Given the description of an element on the screen output the (x, y) to click on. 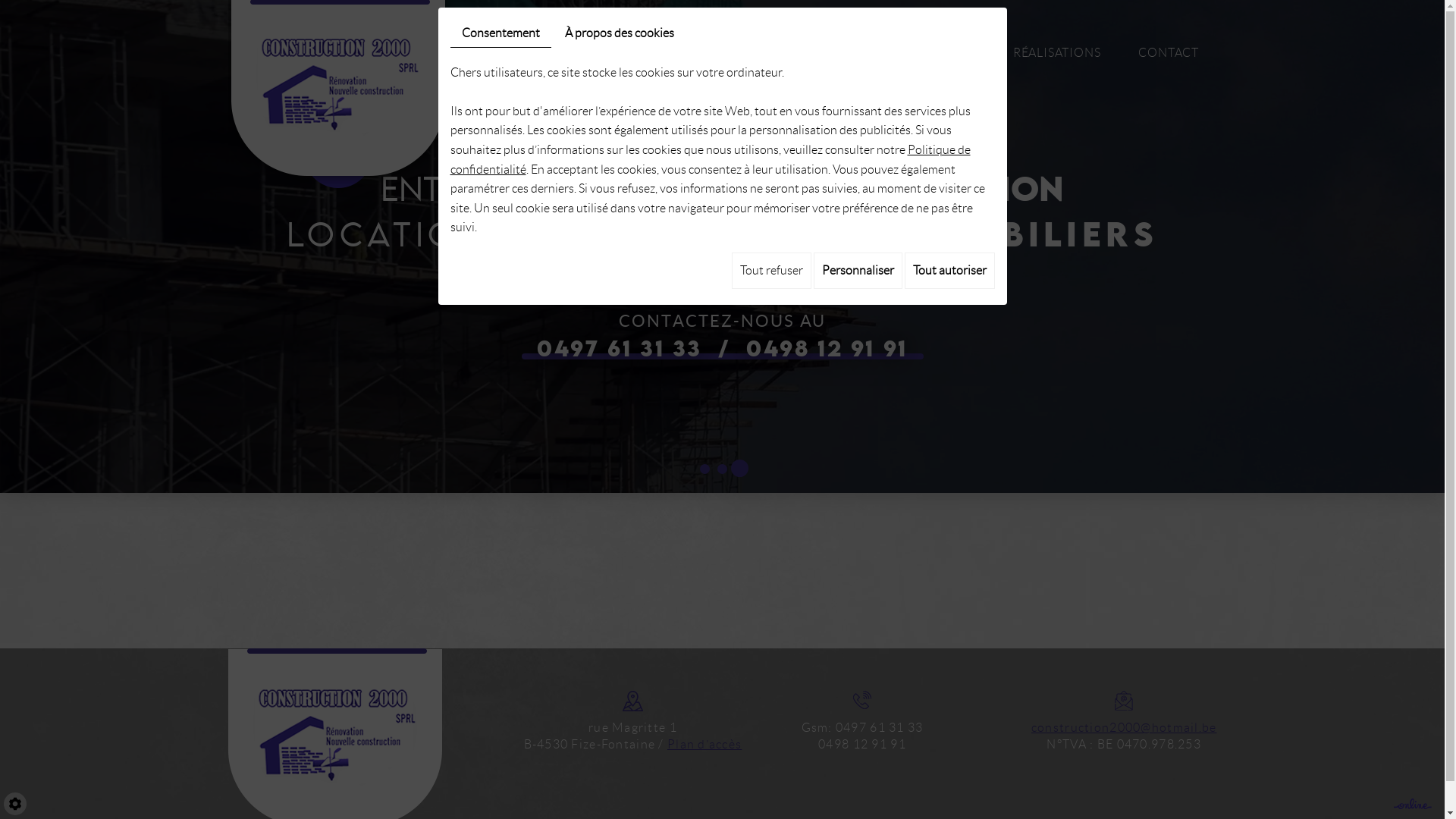
Tout autoriser Element type: text (948, 270)
construction2000@hotmail.be Element type: text (1124, 727)
CONSTRUCTION Element type: text (655, 52)
CONTACT Element type: text (1168, 52)
Consentement Element type: text (500, 33)
Personnaliser Element type: text (856, 270)
ACCUEIL Element type: text (539, 52)
VENTE/LOCATION Element type: text (919, 52)
CONTACTEZ-NOUS AU
0497 61 31 33 / 0498 12 91 91 Element type: text (722, 335)
Tout refuser Element type: text (770, 270)
